Given the description of an element on the screen output the (x, y) to click on. 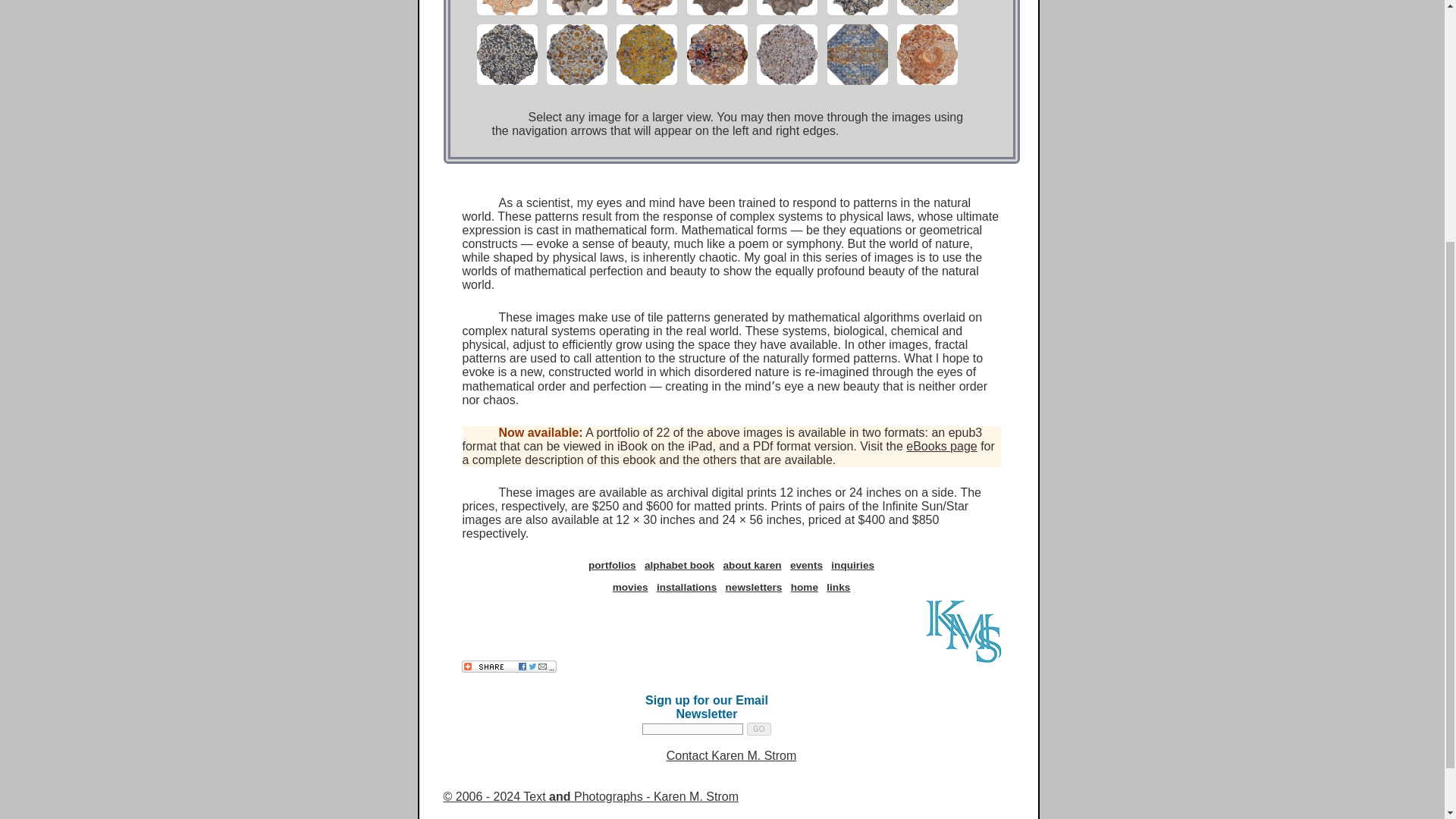
Cartwheel - Barnacle Colony (926, 14)
portfolios (612, 564)
Cartwheel -Wonderstone (715, 83)
links (838, 586)
Contact Karen M. Strom (731, 755)
GO (758, 728)
eBooks page (940, 445)
about karen (752, 564)
Cartwheel - Lichen I (576, 83)
Infinite Star - Weston Beach, Pt. Lobos (576, 14)
events (806, 564)
Cartwheel - Lichen II (645, 83)
newsletters (754, 586)
Infinite Star - Tracks 2, Clam Beach, CA (785, 14)
GO (758, 728)
